Given the description of an element on the screen output the (x, y) to click on. 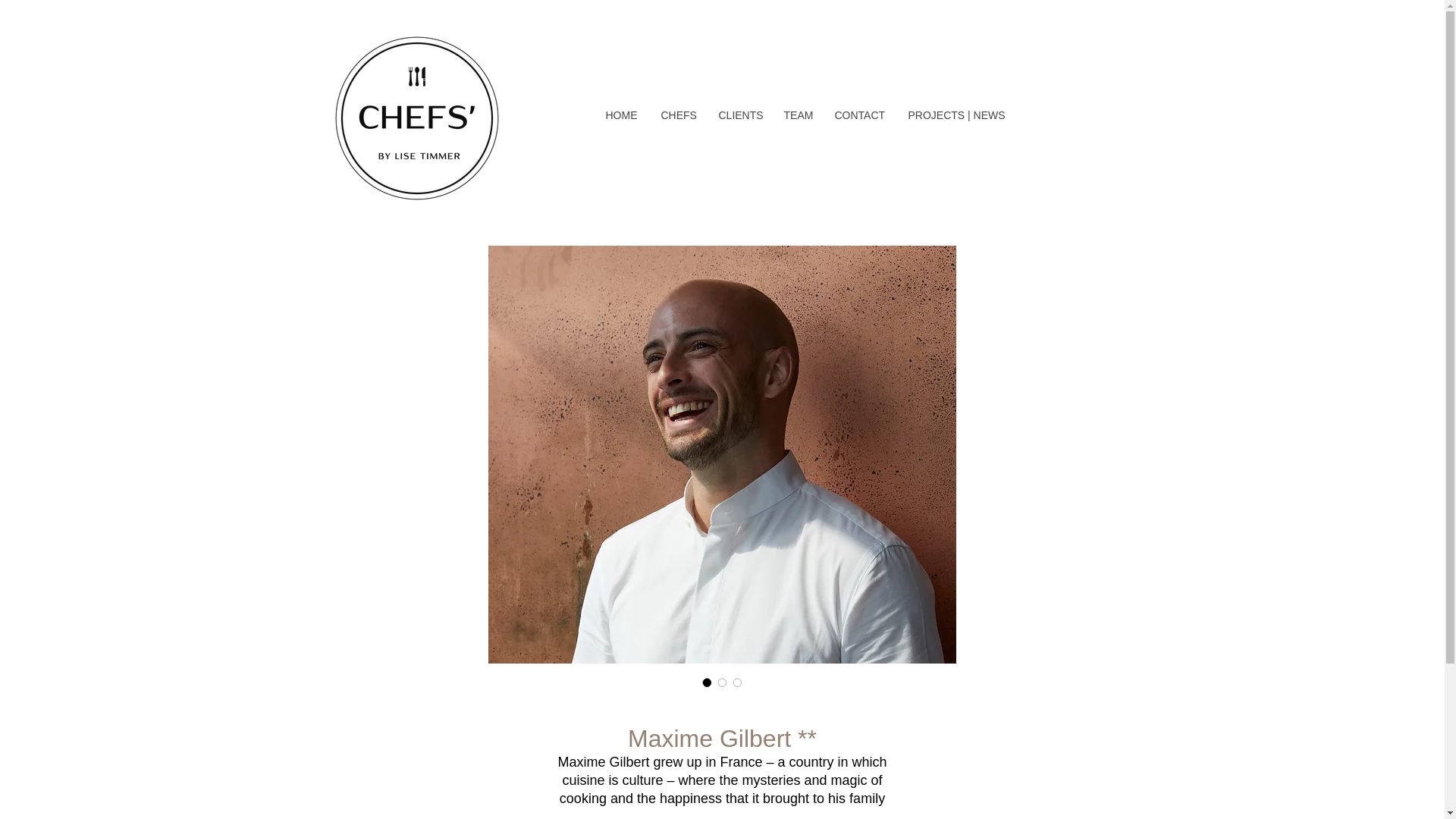
TEAM (796, 115)
CHEFS (677, 115)
CONTACT (858, 115)
CLIENTS (738, 115)
HOME (620, 115)
